Given the description of an element on the screen output the (x, y) to click on. 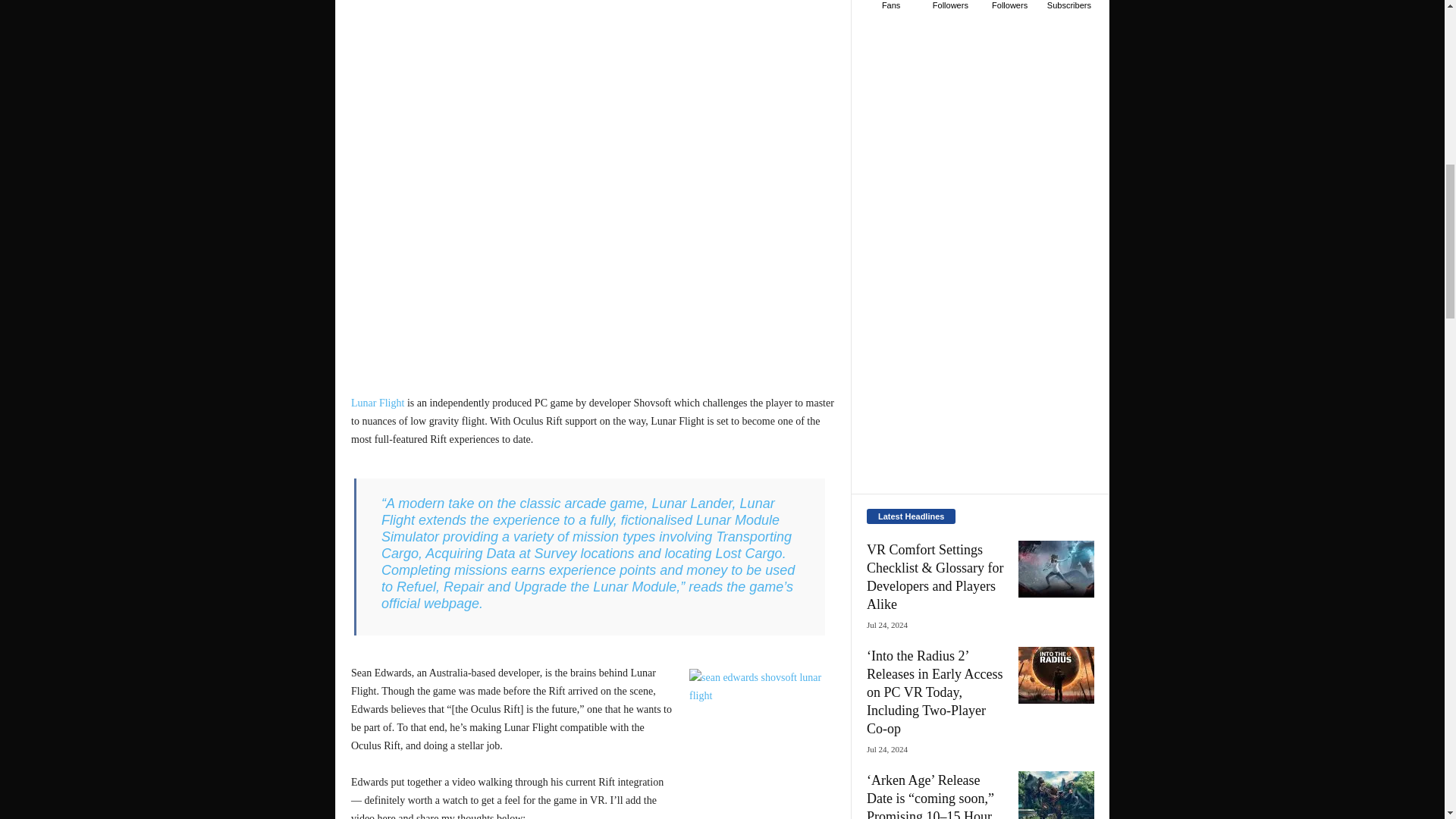
Lunar Flight (377, 402)
official webpage (430, 603)
